Given the description of an element on the screen output the (x, y) to click on. 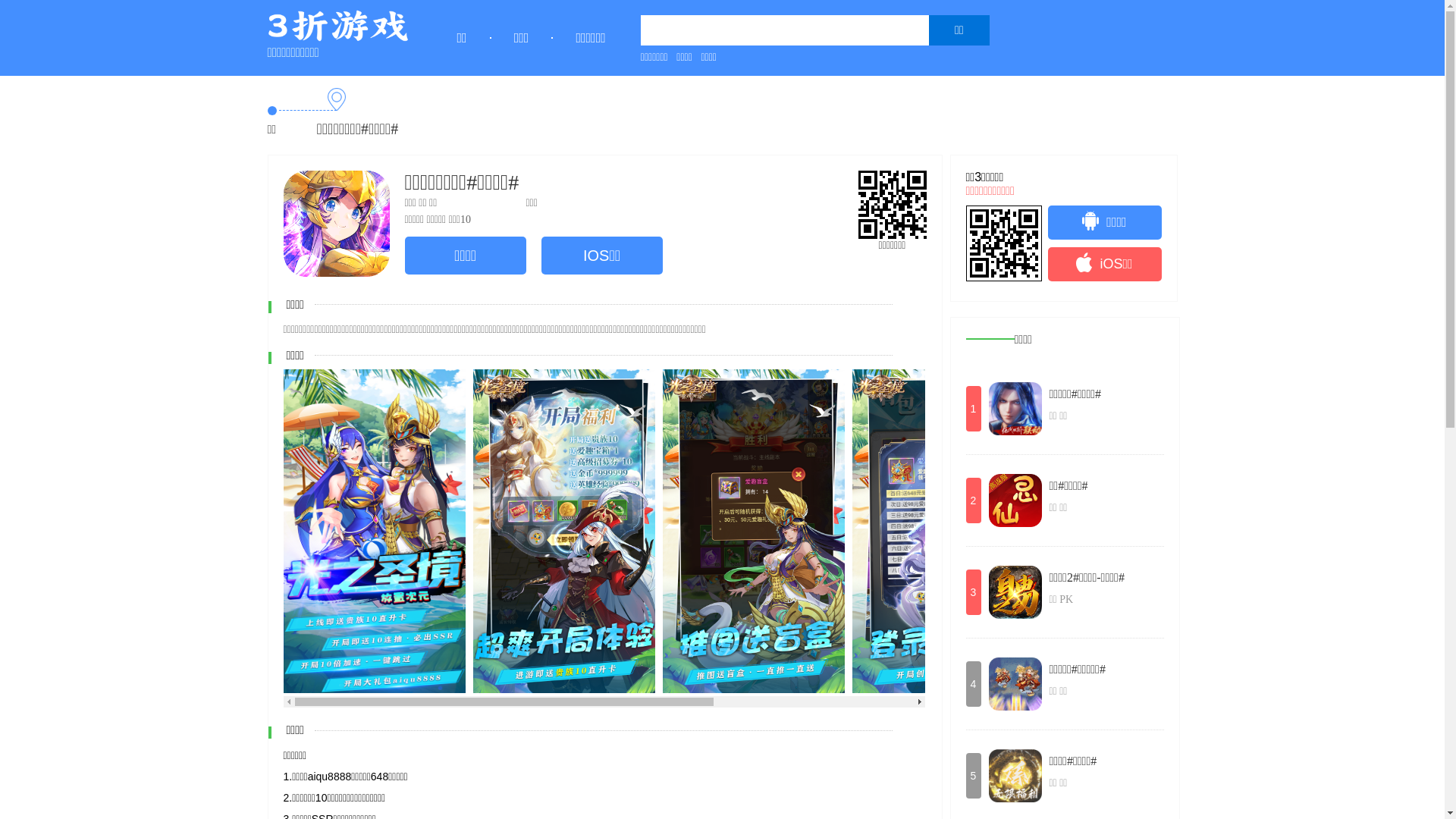
http://www.3zhe.com/ Element type: hover (1003, 243)
http://www.3zhe.com/ Element type: hover (892, 204)
